Given the description of an element on the screen output the (x, y) to click on. 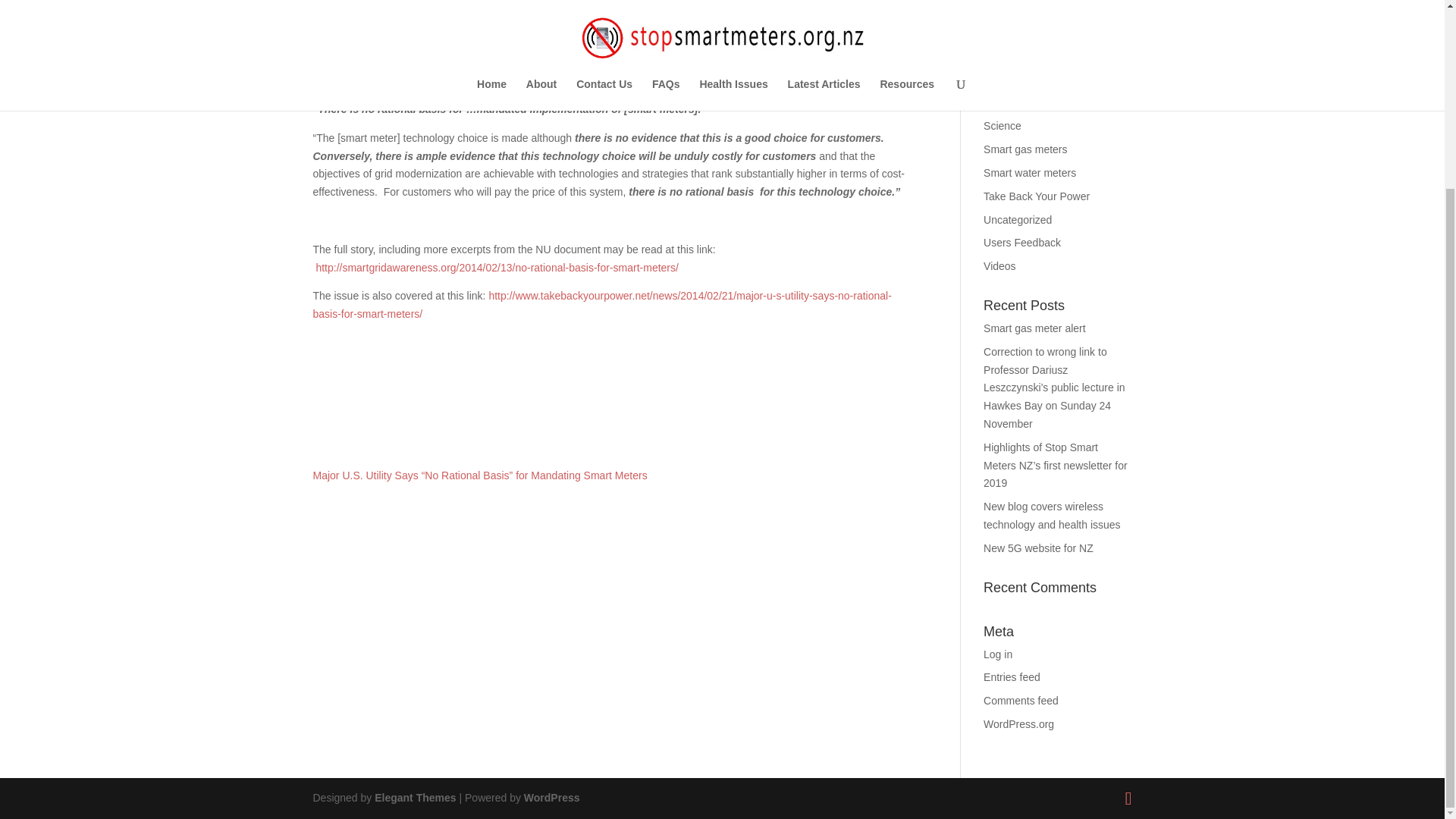
Smart gas meters (1025, 149)
Government and Electricity Industry Positions (1047, 10)
Smart water meters (1029, 173)
Premium WordPress Themes (414, 797)
Science (1003, 125)
Take Back Your Power (1036, 196)
Information in Other Languages (1030, 46)
Latest News (1013, 79)
Privacy (1000, 102)
